Given the description of an element on the screen output the (x, y) to click on. 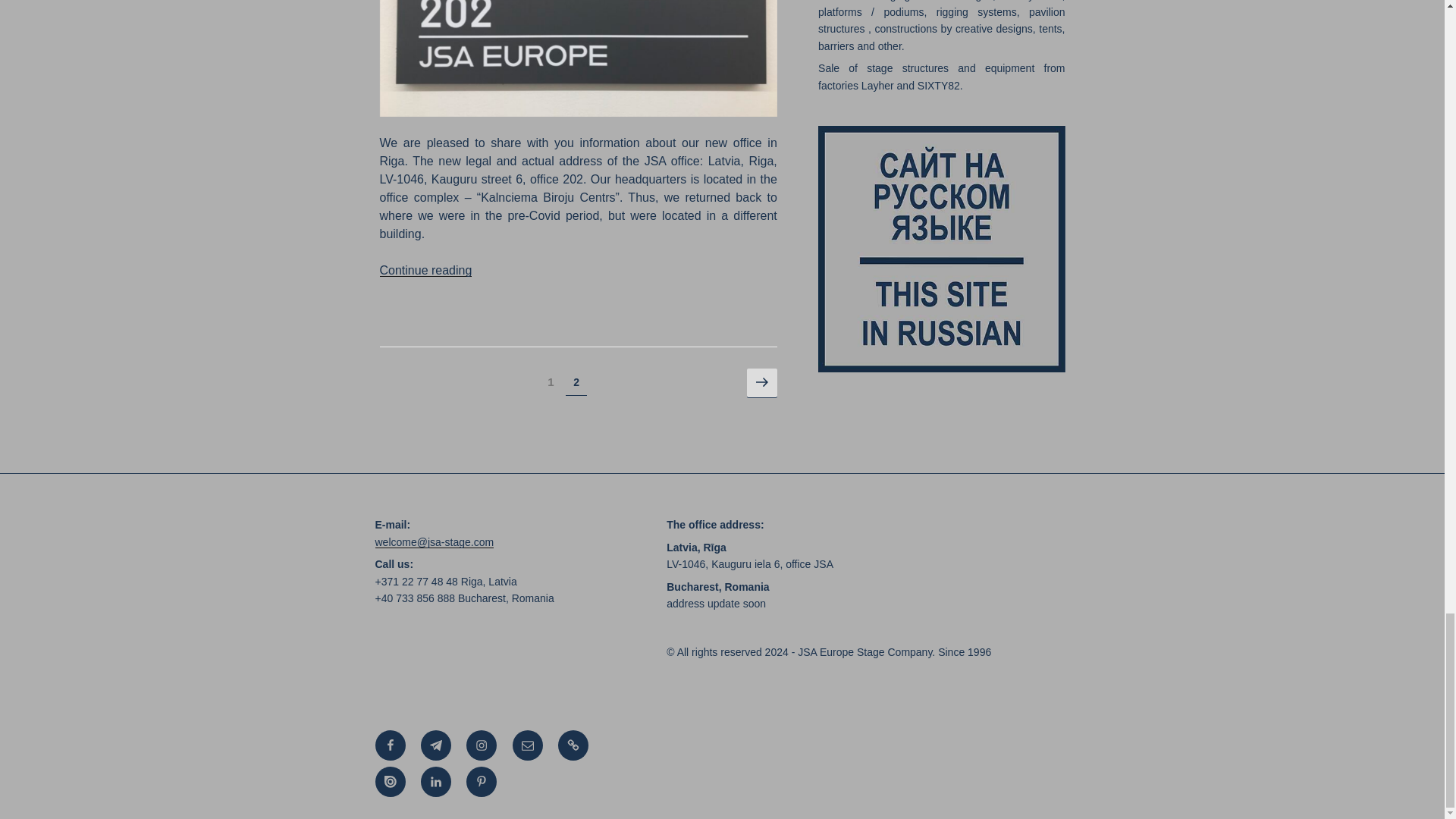
Next page (761, 383)
